Given the description of an element on the screen output the (x, y) to click on. 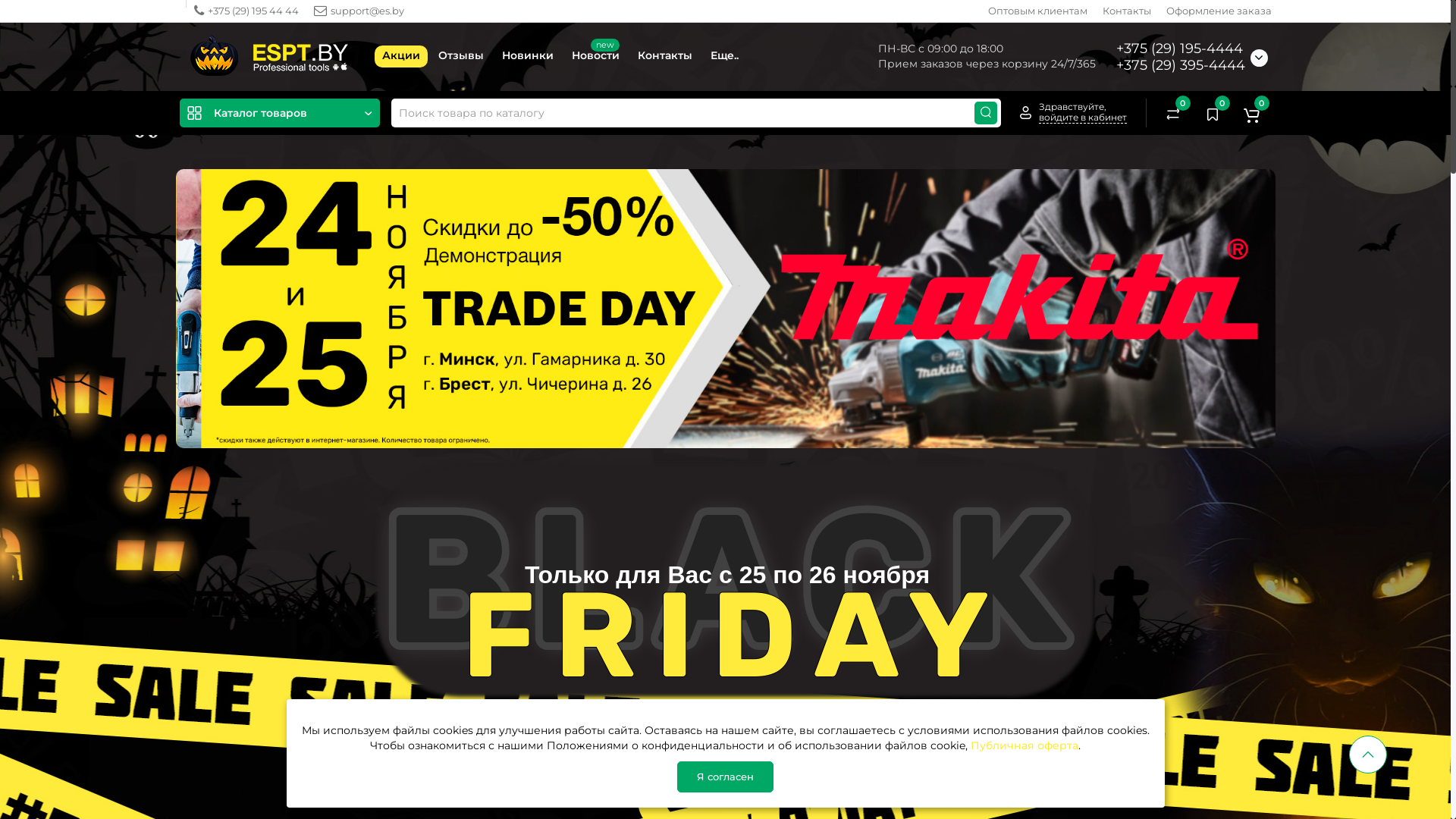
0 Element type: text (1250, 112)
+375 (29) 395-4444 Element type: text (1180, 64)
0 Element type: text (1172, 112)
0 Element type: text (1211, 112)
+375 (29) 195 44 44 Element type: text (246, 10)
support@es.by Element type: text (358, 10)
+375 (29) 195-4444 Element type: text (1179, 48)
ESPT.by Element type: hover (271, 56)
